Given the description of an element on the screen output the (x, y) to click on. 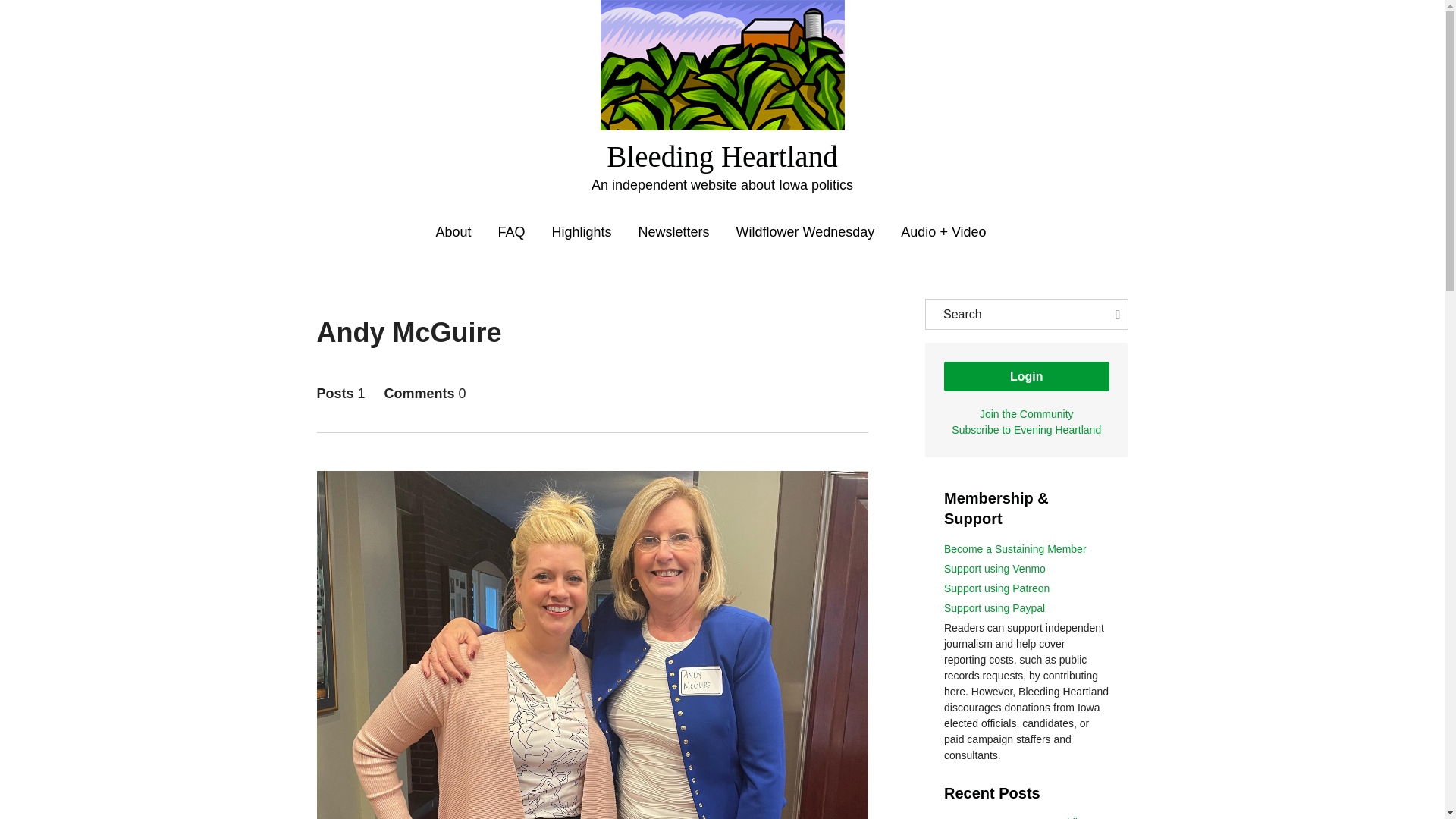
Highlights (581, 231)
Iowa Republicans jump on Olympic rage bandwagon (1024, 817)
Support using Patreon (996, 588)
Subscribe to Evening Heartland (1026, 429)
Become a Sustaining Member (1014, 548)
Join the Community (1026, 413)
Support using Venmo (994, 568)
Newsletters (674, 231)
About (452, 231)
Support using Paypal (994, 607)
Wildflower Wednesday (805, 231)
FAQ (510, 231)
Login (1026, 376)
